Given the description of an element on the screen output the (x, y) to click on. 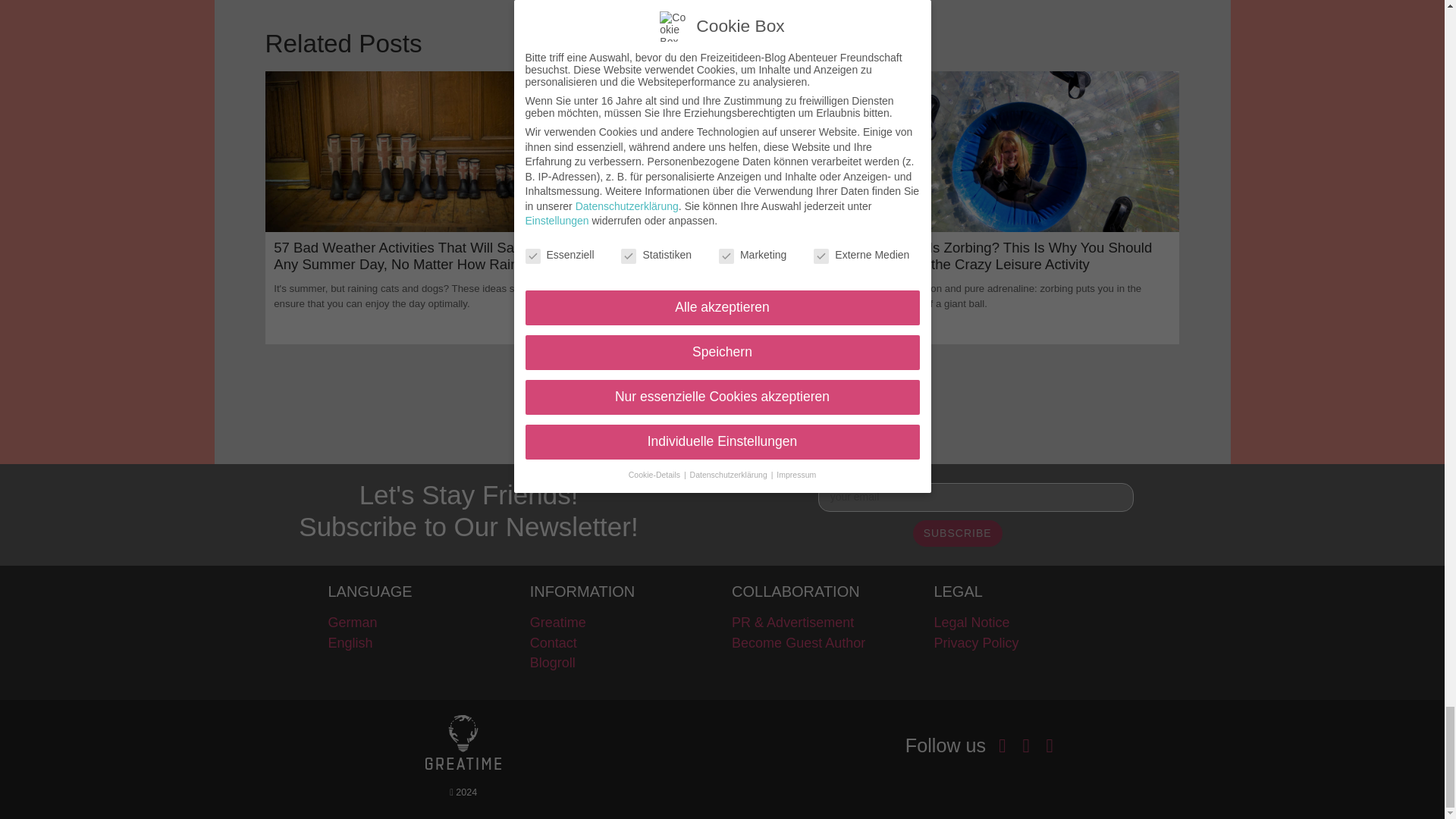
Subscribe (957, 533)
Zorbing (1030, 151)
